Given the description of an element on the screen output the (x, y) to click on. 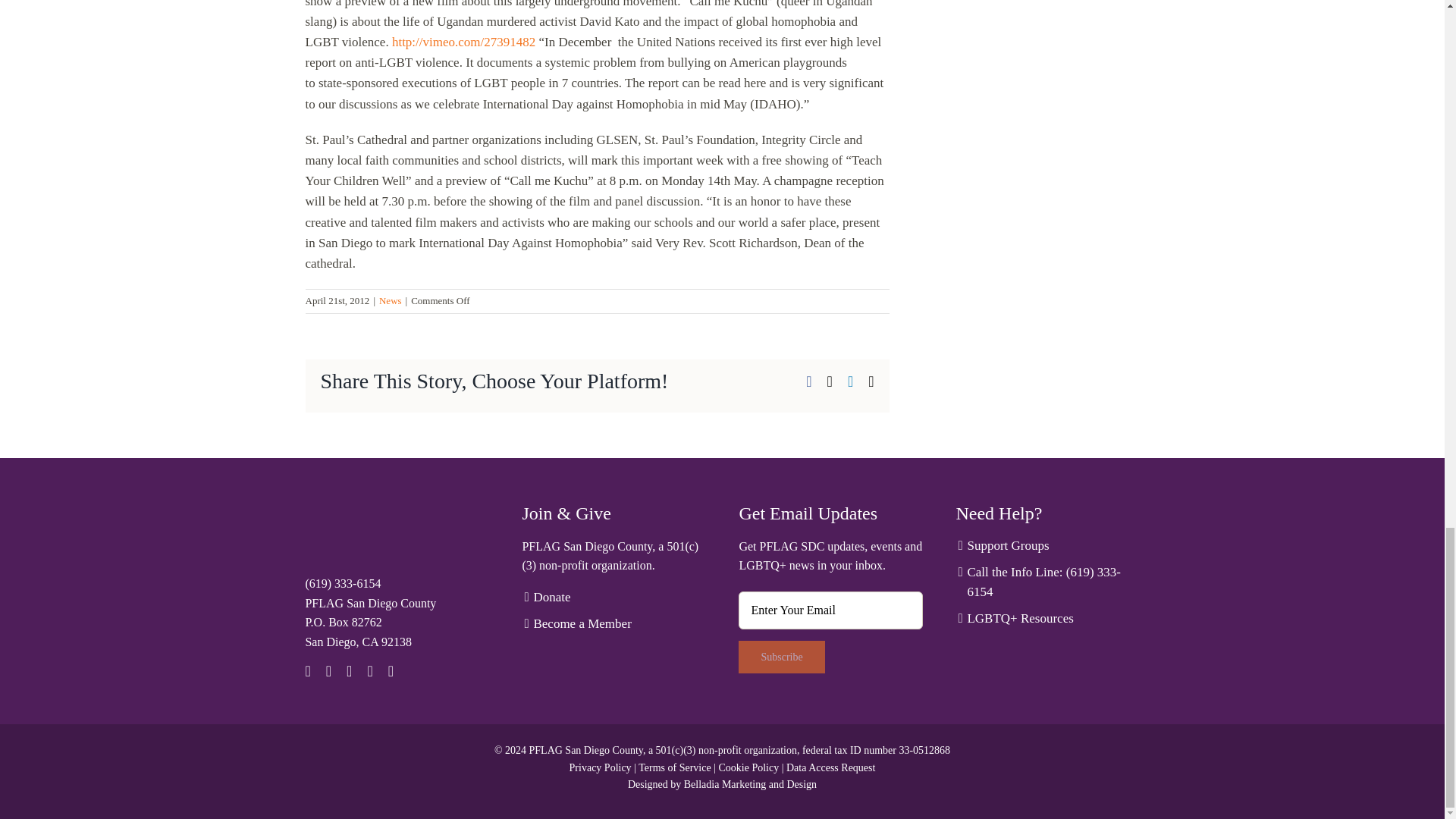
PFLAG-SDC-Logo-2023-web-white (368, 532)
News (389, 300)
Subscribe (781, 656)
